Given the description of an element on the screen output the (x, y) to click on. 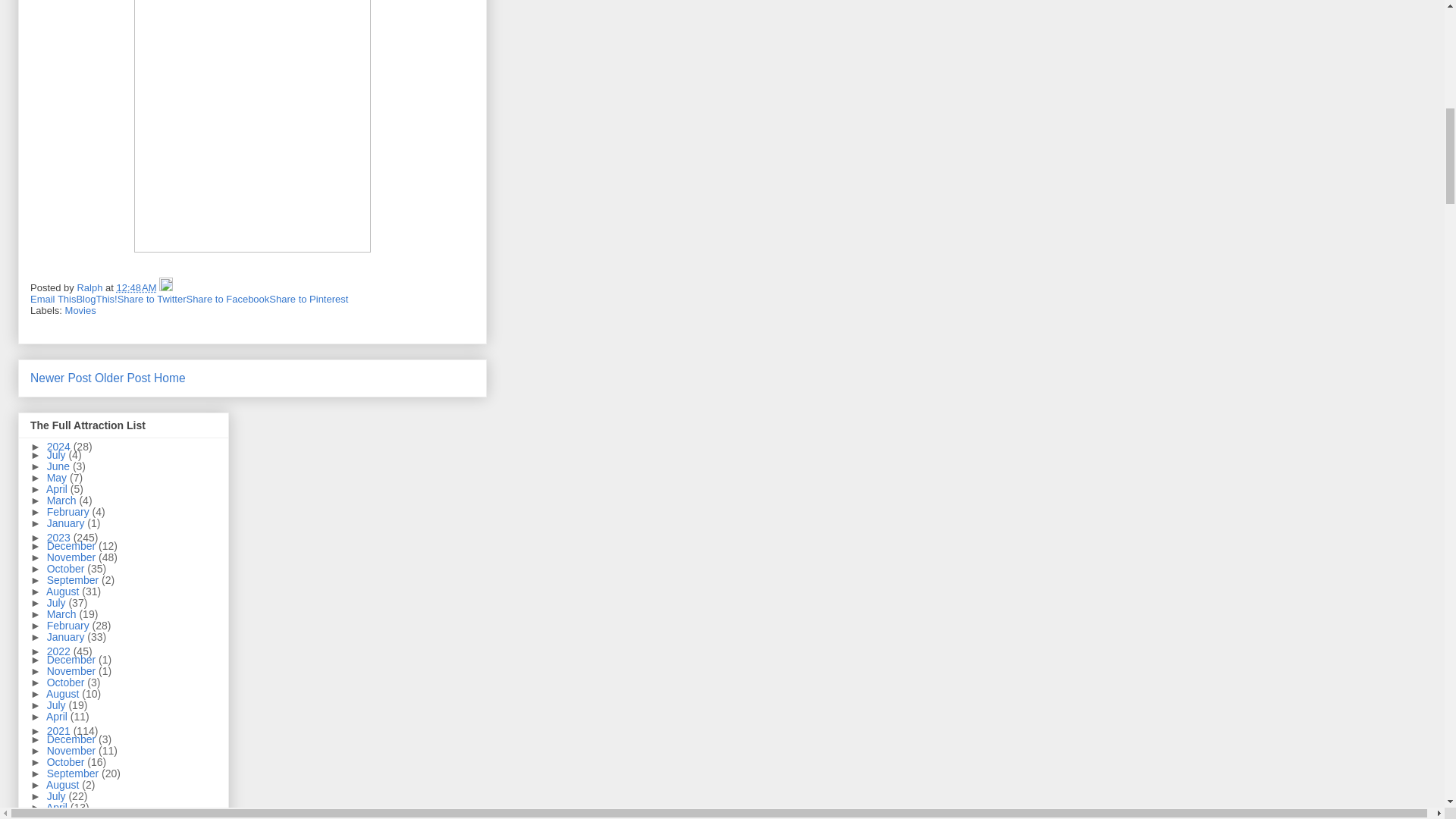
November (72, 557)
Newer Post (60, 377)
Email This (52, 298)
Share to Facebook (227, 298)
April (57, 489)
Older Post (122, 377)
Email This (52, 298)
February (69, 511)
July (57, 454)
May (57, 477)
Ralph (90, 287)
March (63, 500)
Share to Facebook (227, 298)
January (66, 522)
Share to Pinterest (308, 298)
